Given the description of an element on the screen output the (x, y) to click on. 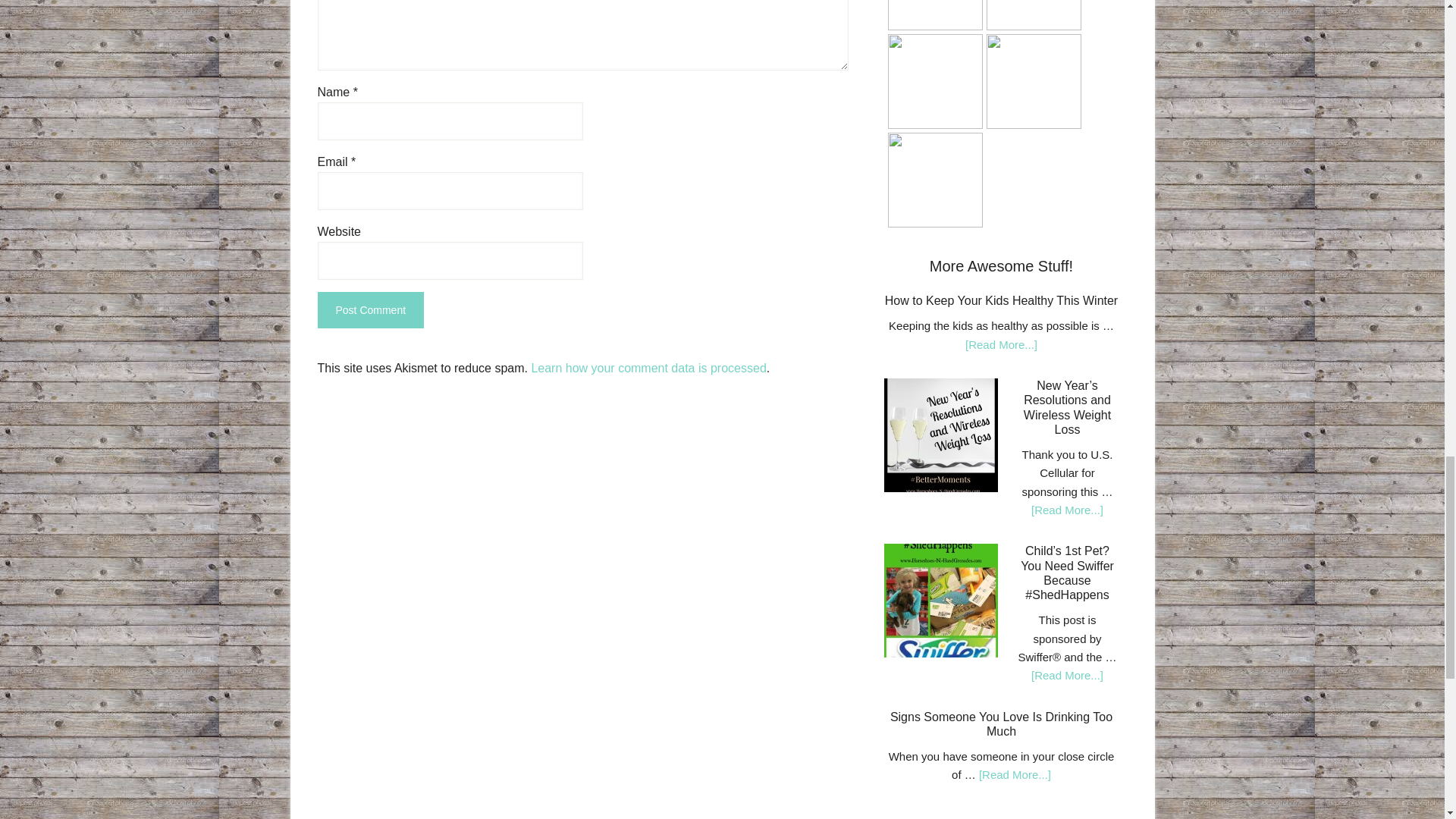
Post Comment (370, 309)
Learn how your comment data is processed (648, 367)
Post Comment (370, 309)
